Given the description of an element on the screen output the (x, y) to click on. 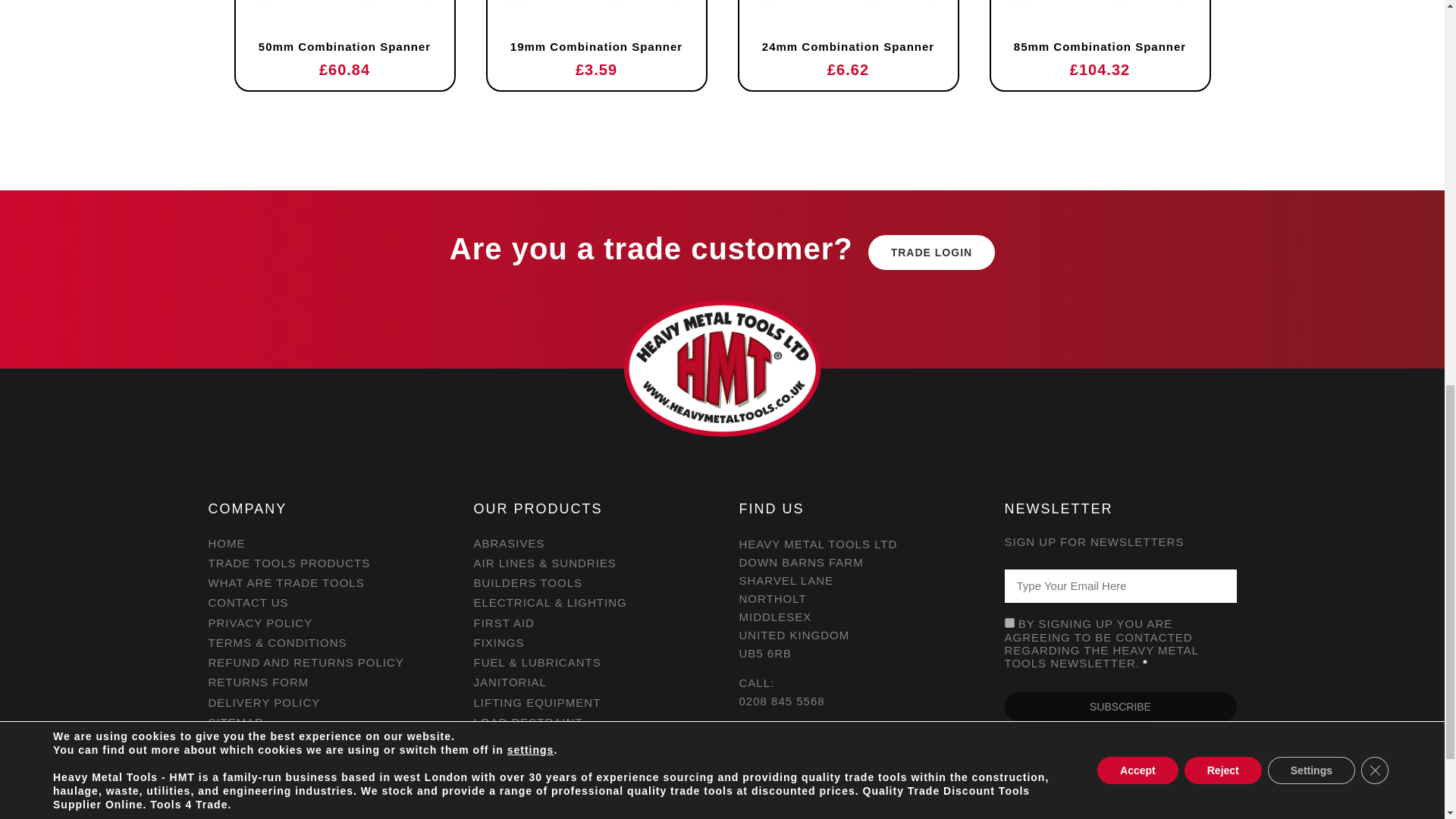
CONTACT US (323, 602)
Subscribe (1120, 706)
TRADE LOGIN (930, 252)
WHAT ARE TRADE TOOLS (323, 582)
REFUND AND RETURNS POLICY (323, 662)
HOME (323, 543)
RETURNS FORM (323, 682)
PRIVACY POLICY (323, 622)
TRADE TOOLS PRODUCTS (323, 562)
1 (1008, 623)
